Given the description of an element on the screen output the (x, y) to click on. 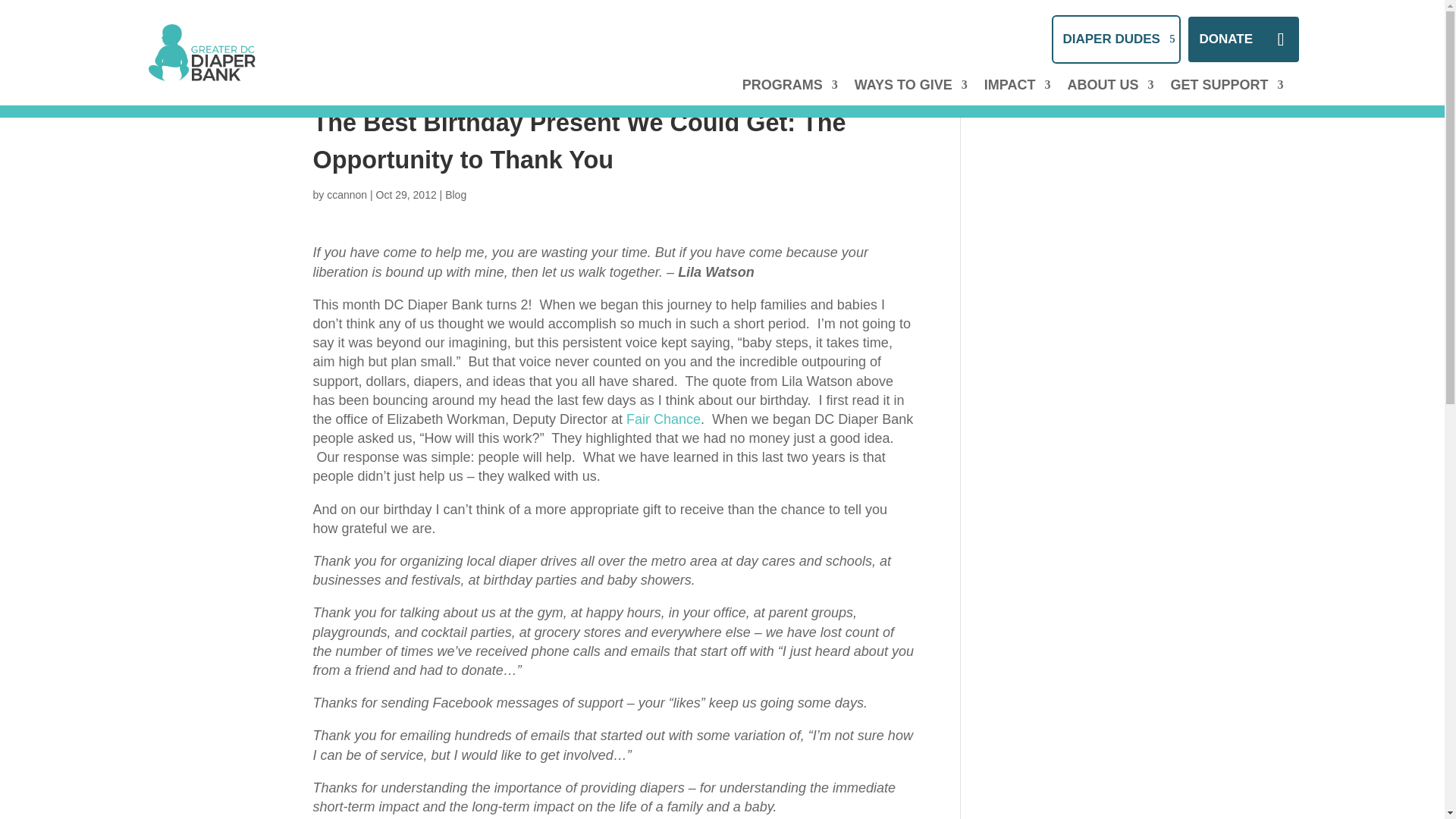
Fair Chance (663, 418)
ABOUT US (1110, 97)
PROGRAMS (790, 97)
IMPACT (1017, 97)
DONATE (1243, 39)
ccannon (346, 194)
DIAPER DUDES (1115, 39)
Blog (455, 194)
Posts by ccannon (346, 194)
WAYS TO GIVE (911, 97)
